Given the description of an element on the screen output the (x, y) to click on. 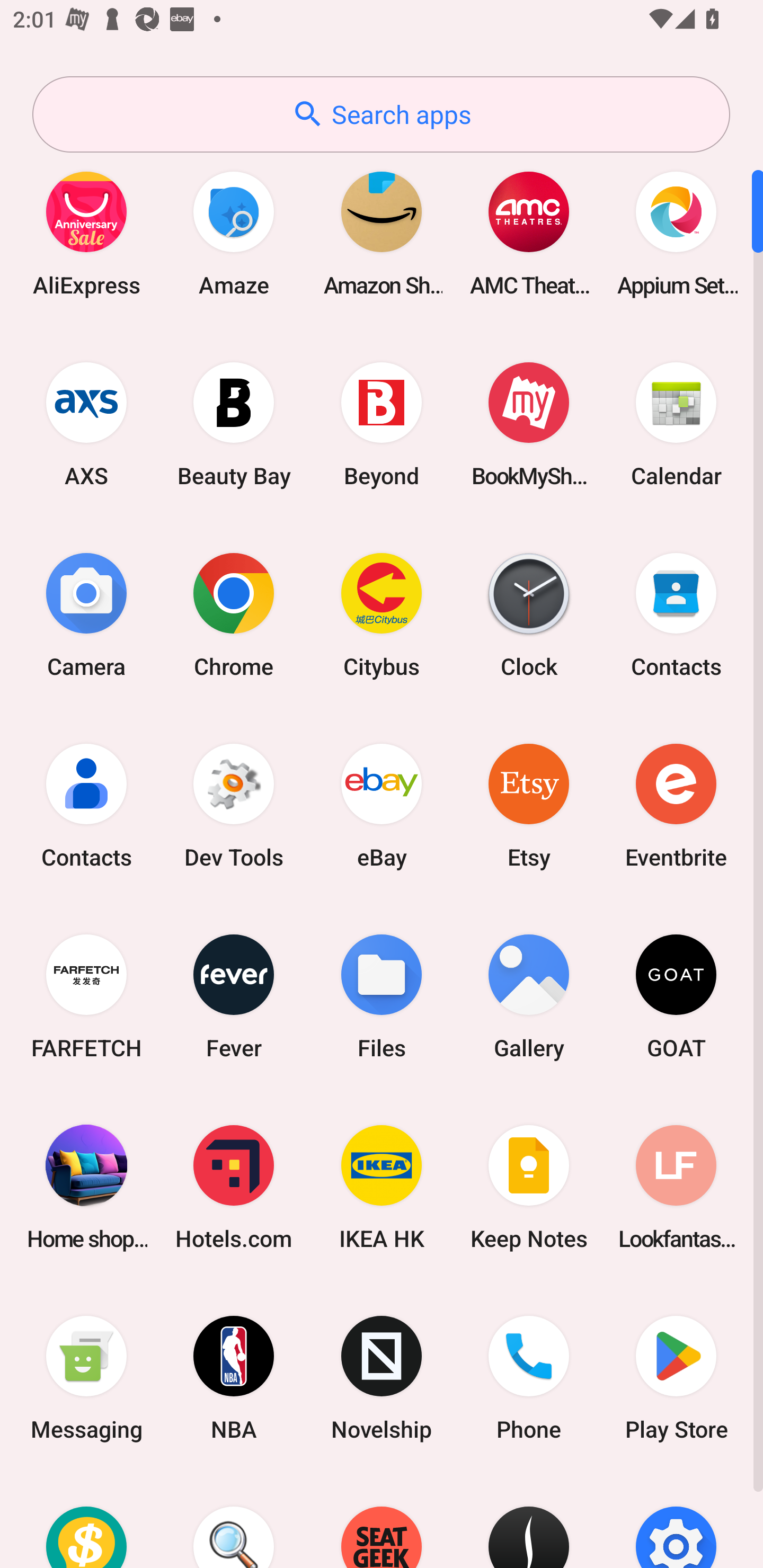
  Search apps (381, 114)
AliExpress (86, 233)
Amaze (233, 233)
Amazon Shopping (381, 233)
AMC Theatres (528, 233)
Appium Settings (676, 233)
AXS (86, 424)
Beauty Bay (233, 424)
Beyond (381, 424)
BookMyShow (528, 424)
Calendar (676, 424)
Camera (86, 614)
Chrome (233, 614)
Citybus (381, 614)
Clock (528, 614)
Contacts (676, 614)
Contacts (86, 805)
Dev Tools (233, 805)
eBay (381, 805)
Etsy (528, 805)
Eventbrite (676, 805)
FARFETCH (86, 996)
Fever (233, 996)
Files (381, 996)
Gallery (528, 996)
GOAT (676, 996)
Home shopping (86, 1186)
Hotels.com (233, 1186)
IKEA HK (381, 1186)
Keep Notes (528, 1186)
Lookfantastic (676, 1186)
Messaging (86, 1377)
NBA (233, 1377)
Novelship (381, 1377)
Phone (528, 1377)
Play Store (676, 1377)
